Given the description of an element on the screen output the (x, y) to click on. 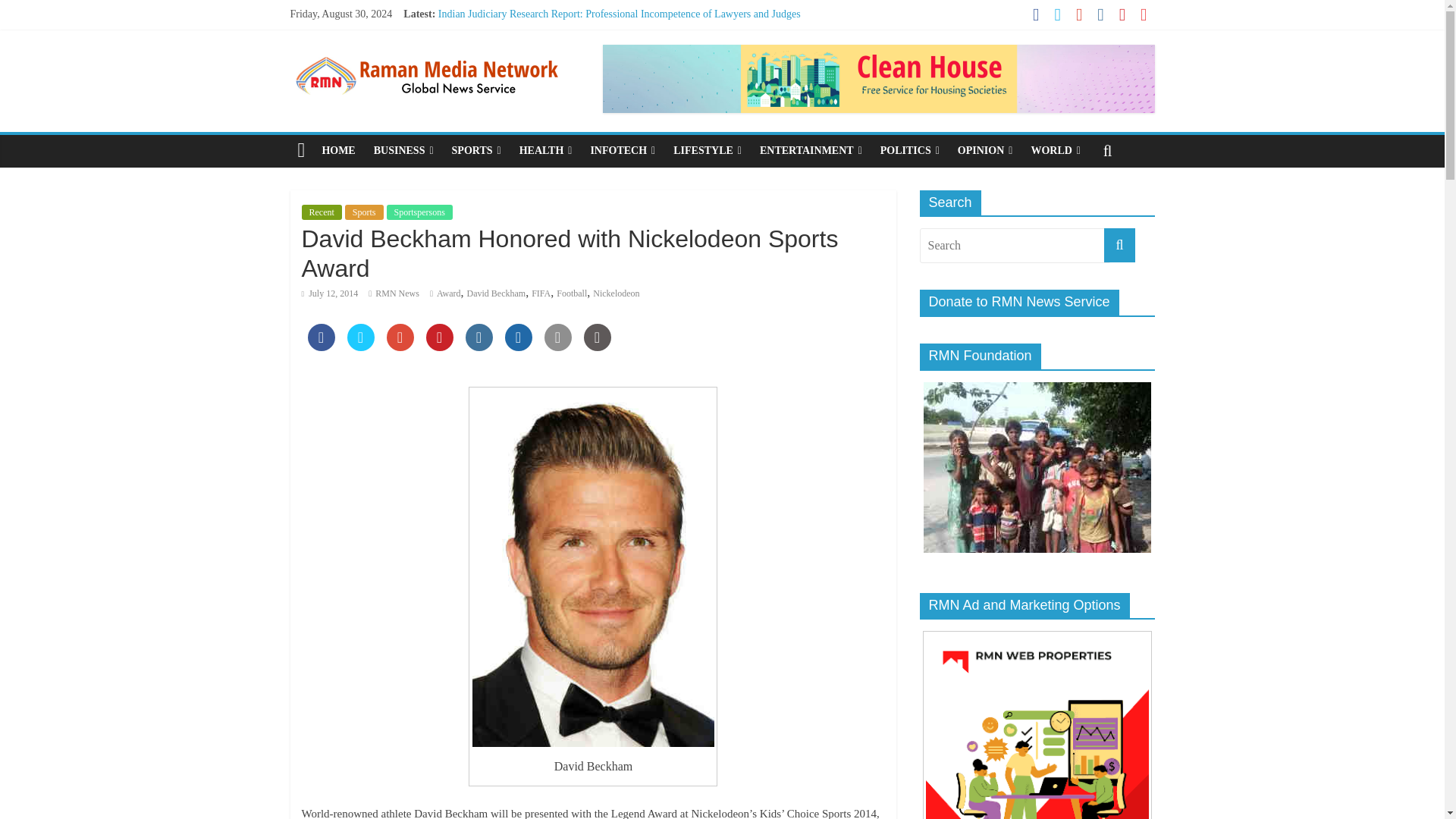
RMN News (397, 293)
How Spirituality Helps You Know the Truths of Life (550, 30)
LIFESTYLE (707, 151)
ENTERTAINMENT (810, 151)
INFOTECH (621, 151)
5:45 PM (329, 293)
How Spirituality Helps You Know the Truths of Life (550, 30)
HOME (338, 151)
